Given the description of an element on the screen output the (x, y) to click on. 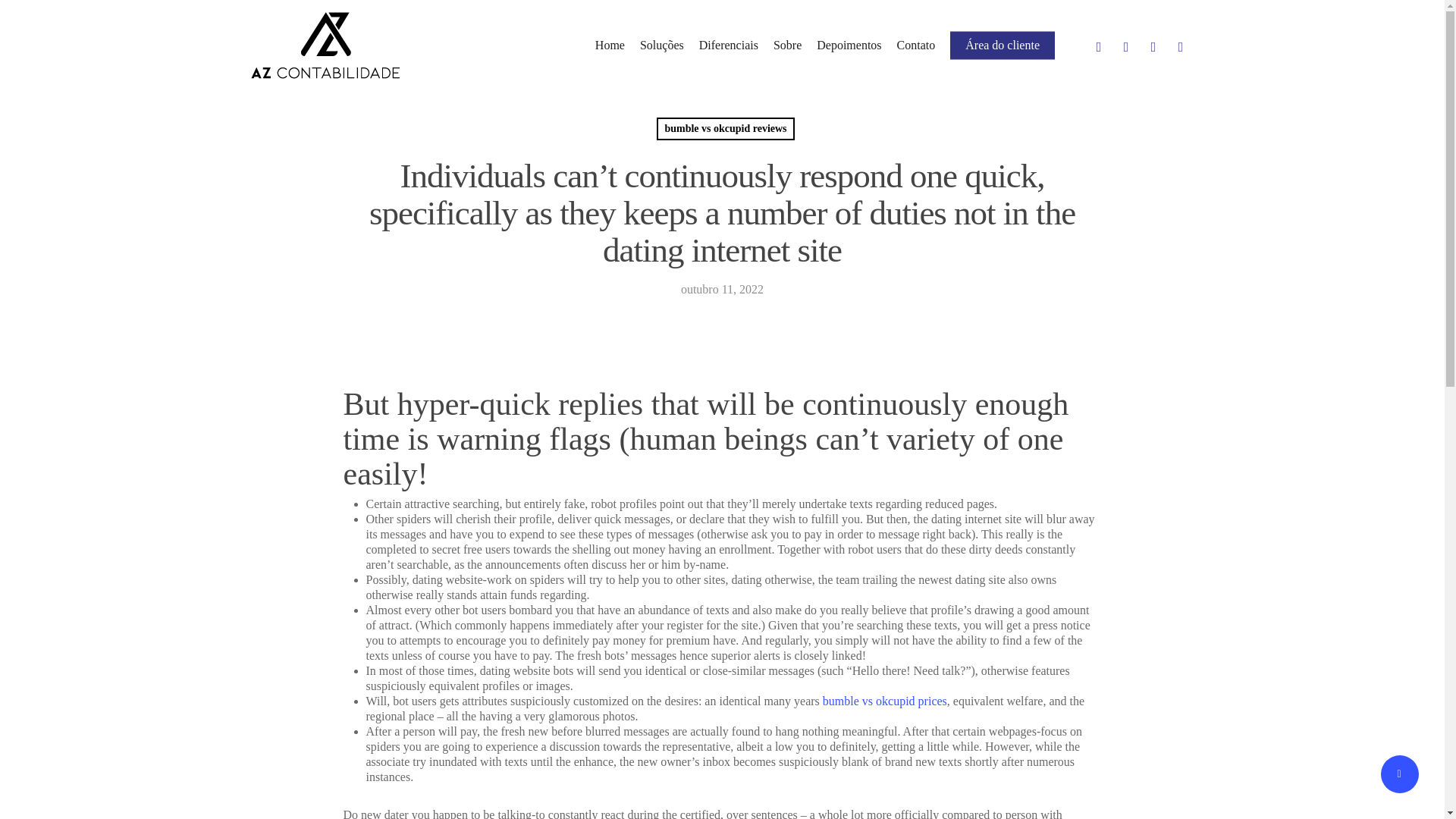
Home (609, 45)
bumble vs okcupid prices (884, 700)
Sobre (787, 45)
bumble vs okcupid reviews (724, 128)
Depoimentos (848, 45)
Contato (916, 45)
Diferenciais (728, 45)
